Given the description of an element on the screen output the (x, y) to click on. 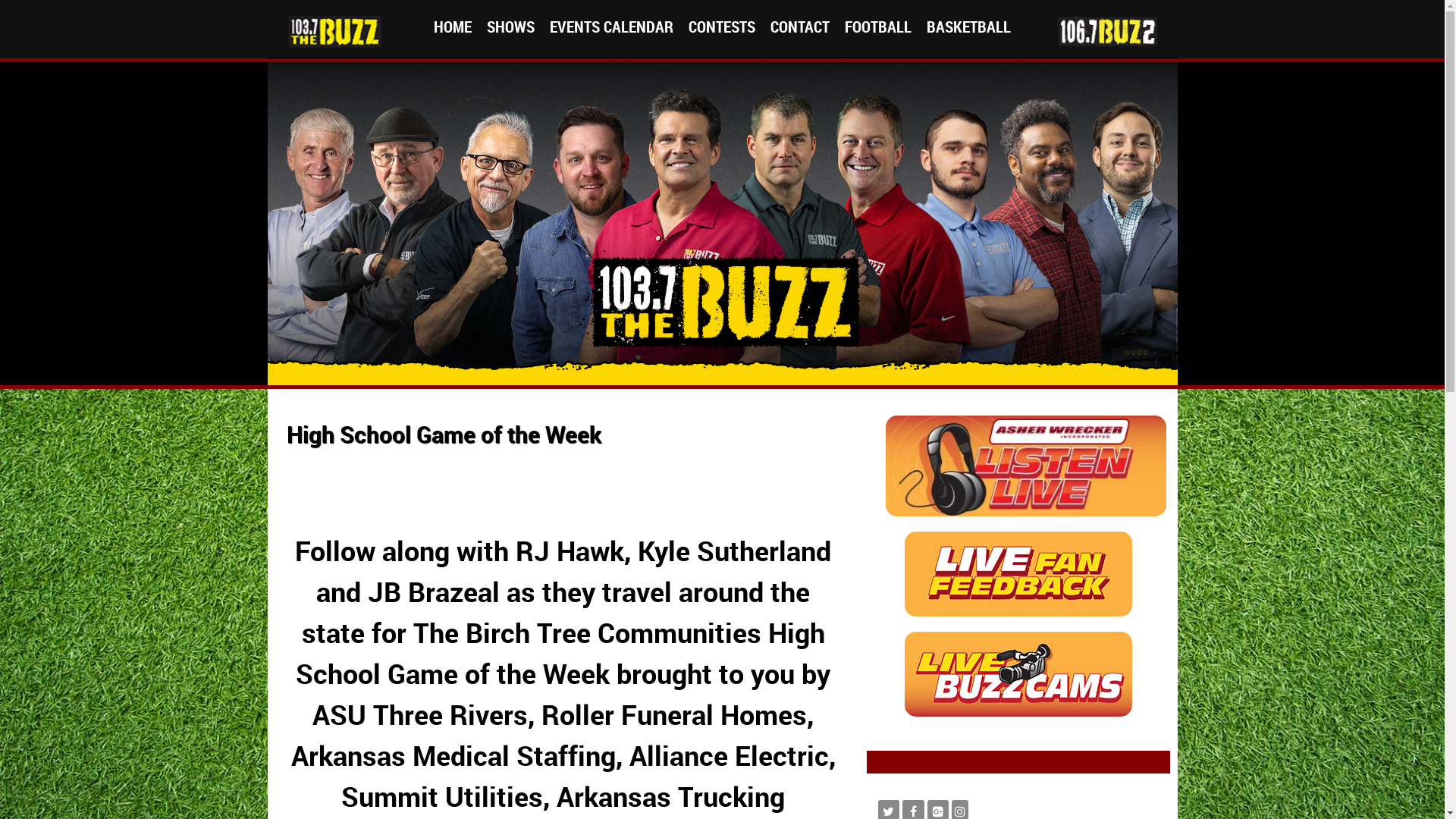
BASKETBALL Element type: text (968, 26)
EVENTS CALENDAR Element type: text (611, 26)
CONTESTS Element type: text (721, 26)
CONTACT Element type: text (799, 26)
SHOWS Element type: text (510, 26)
FOOTBALL Element type: text (877, 26)
HOME Element type: text (452, 26)
